Given the description of an element on the screen output the (x, y) to click on. 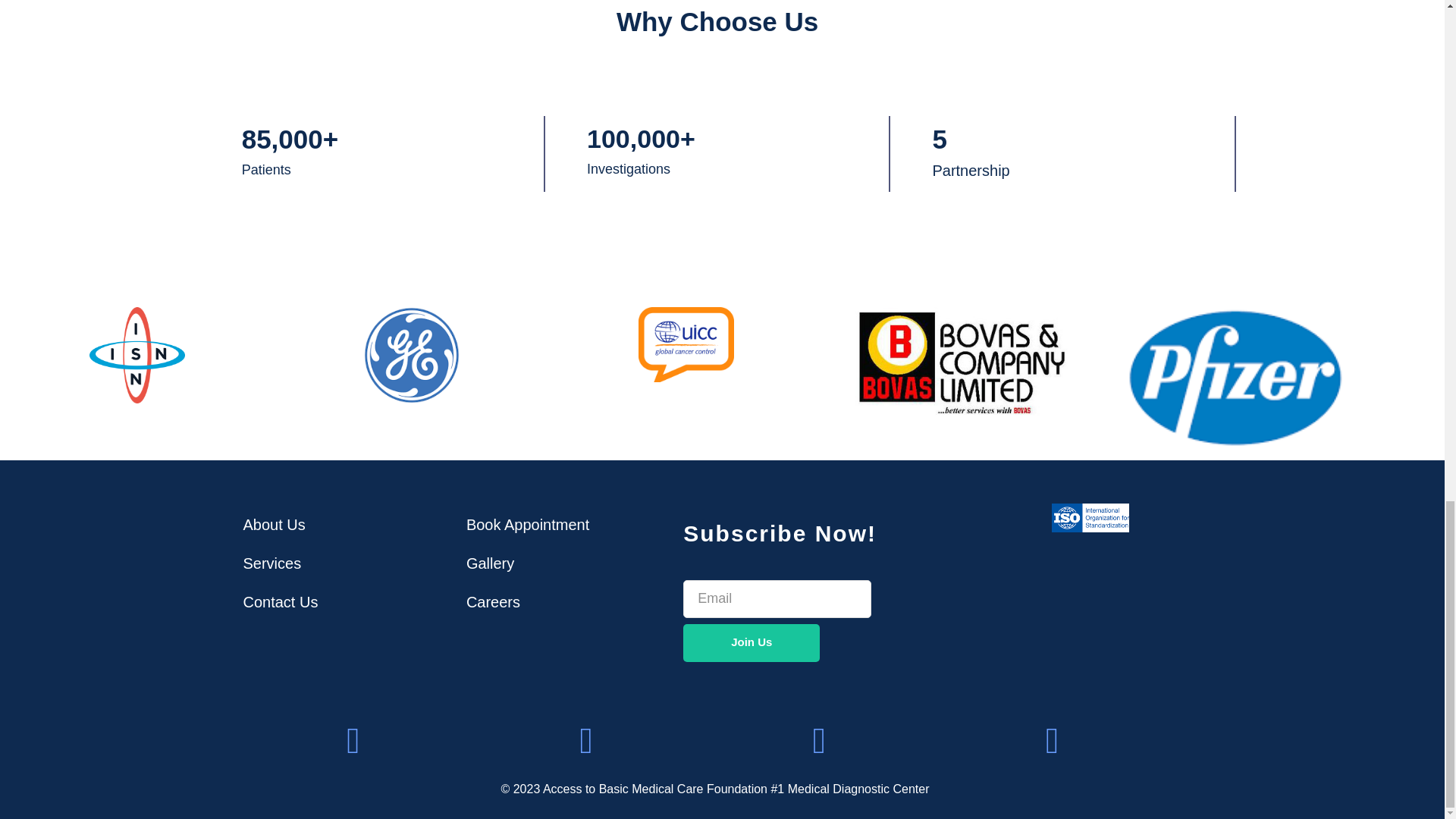
Careers (527, 601)
Book Appointment (527, 524)
Gallery (527, 563)
Services (279, 563)
Contact Us (279, 601)
About Us (279, 524)
Join Us (750, 642)
